Given the description of an element on the screen output the (x, y) to click on. 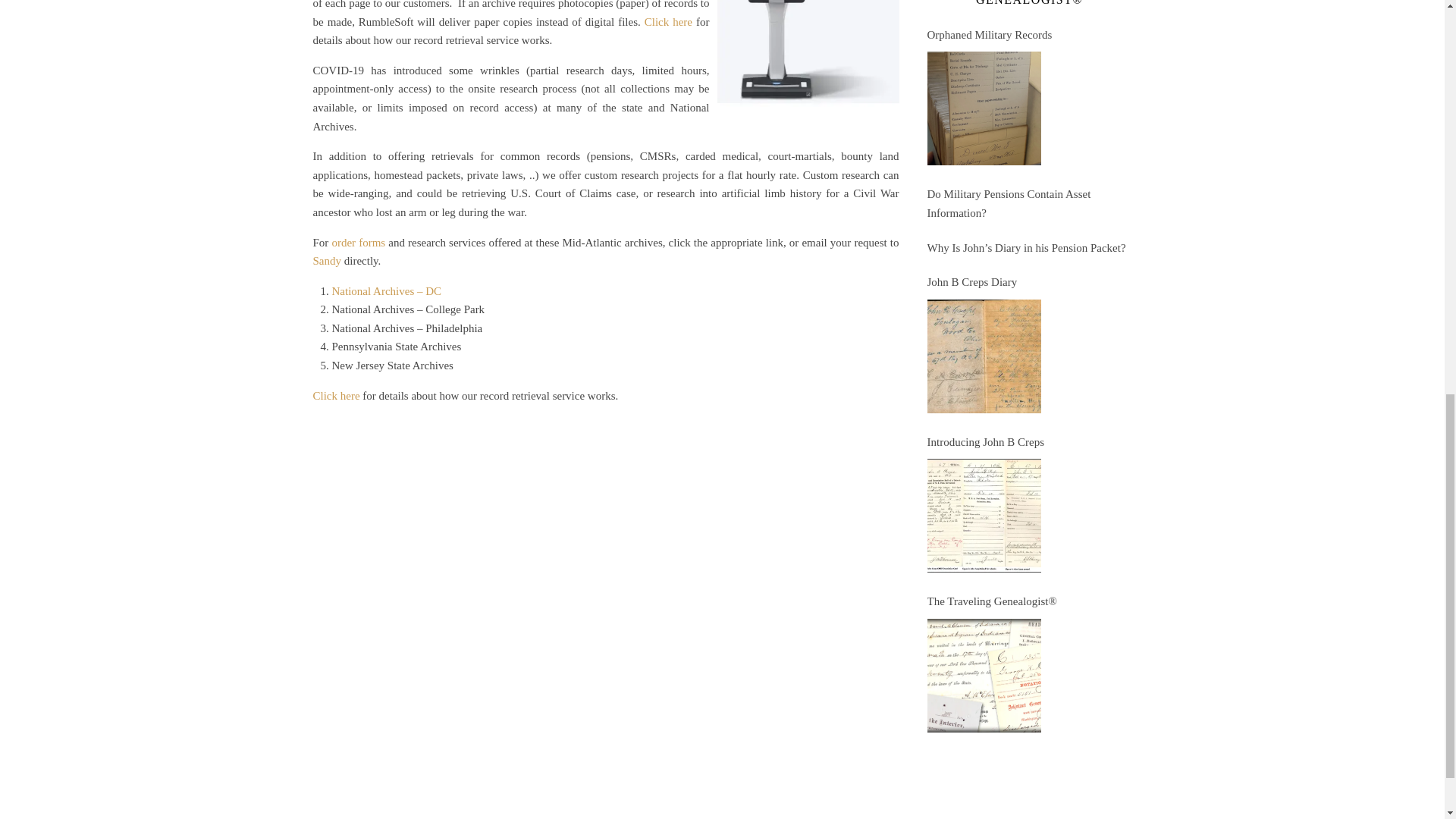
Click here (336, 395)
Click here (669, 21)
Introducing John B Creps (1028, 442)
Introducing John B Creps (983, 515)
John B Creps Diary (983, 356)
Sandy (326, 260)
Do Military Pensions Contain Asset Information? (1028, 203)
Orphaned Military Records (1028, 35)
John B Creps Diary (1028, 281)
Orphaned Military Records (983, 108)
order forms (358, 242)
